Given the description of an element on the screen output the (x, y) to click on. 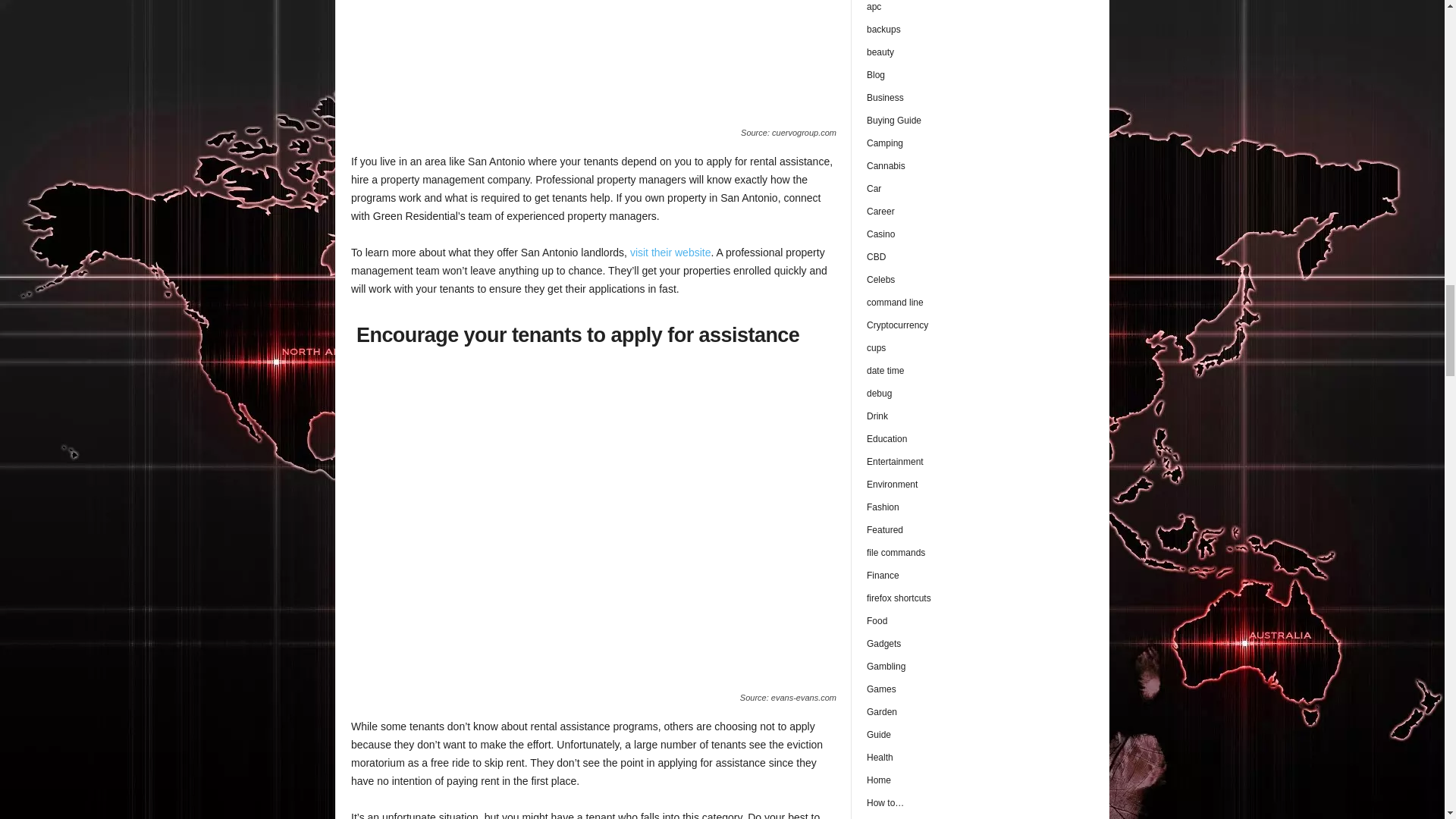
visit their website (670, 252)
